Given the description of an element on the screen output the (x, y) to click on. 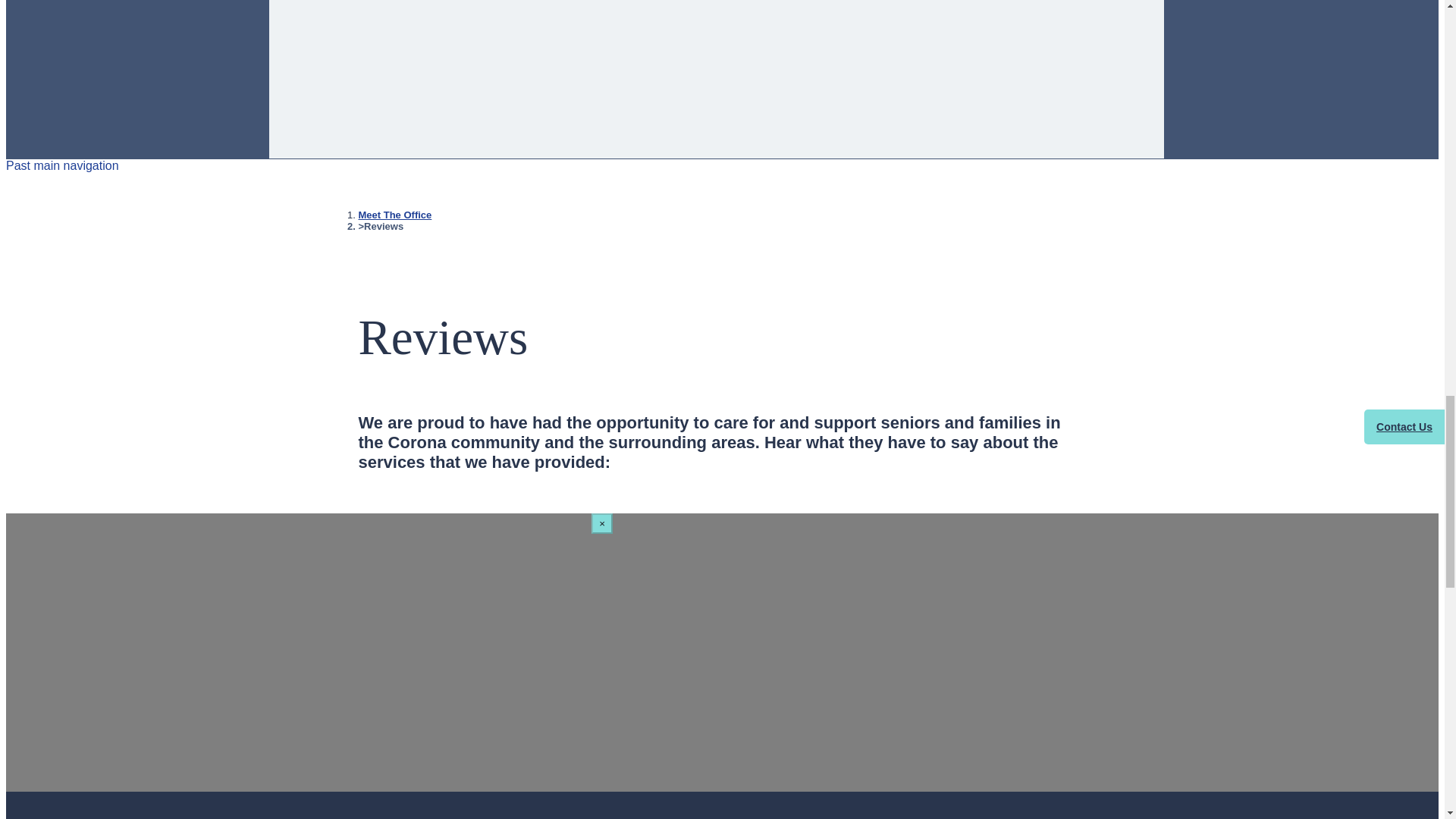
Past main navigation (62, 164)
Meet The Office (394, 214)
